Given the description of an element on the screen output the (x, y) to click on. 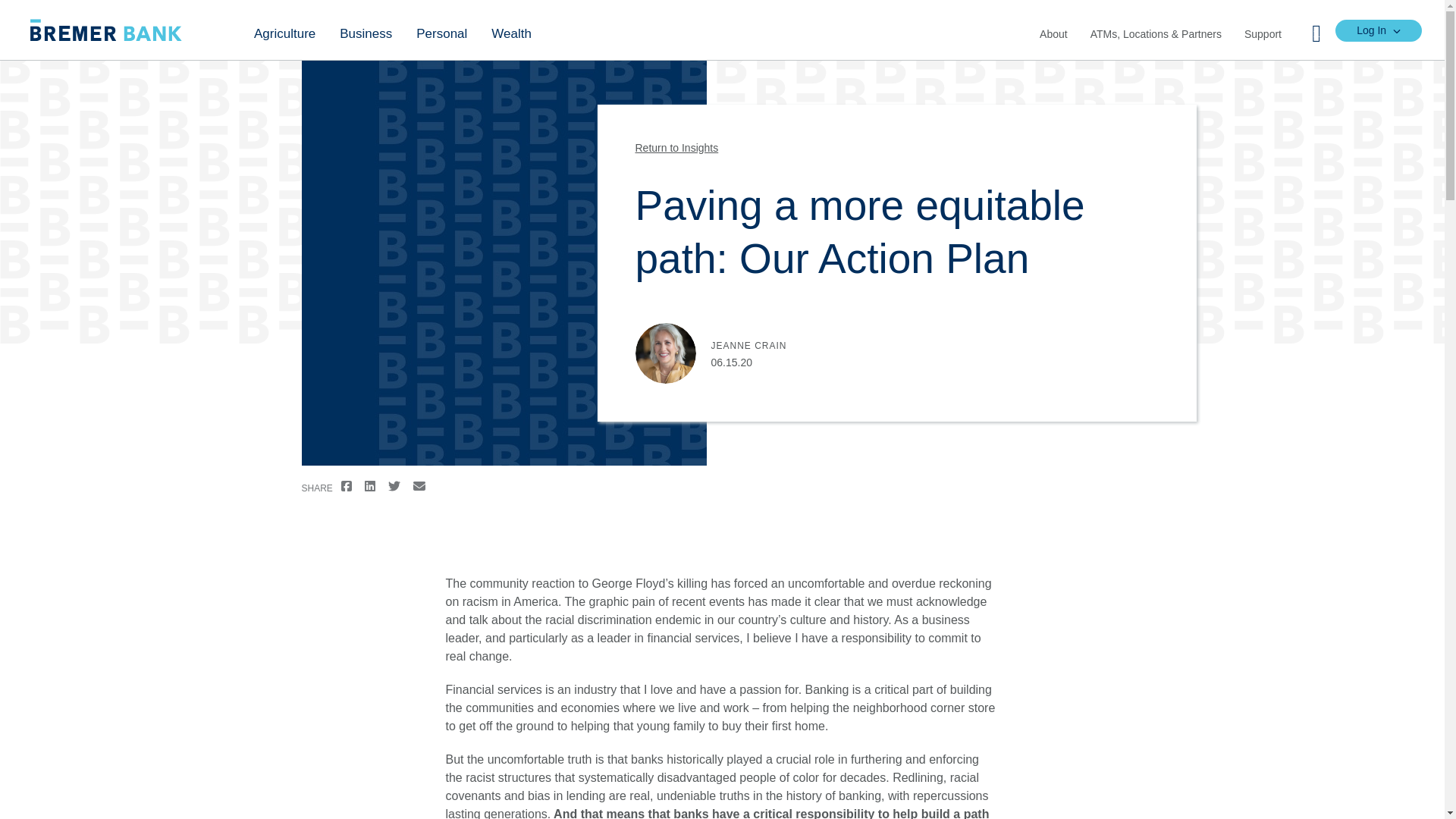
Personal (441, 29)
Agriculture (284, 29)
Business (365, 29)
